Given the description of an element on the screen output the (x, y) to click on. 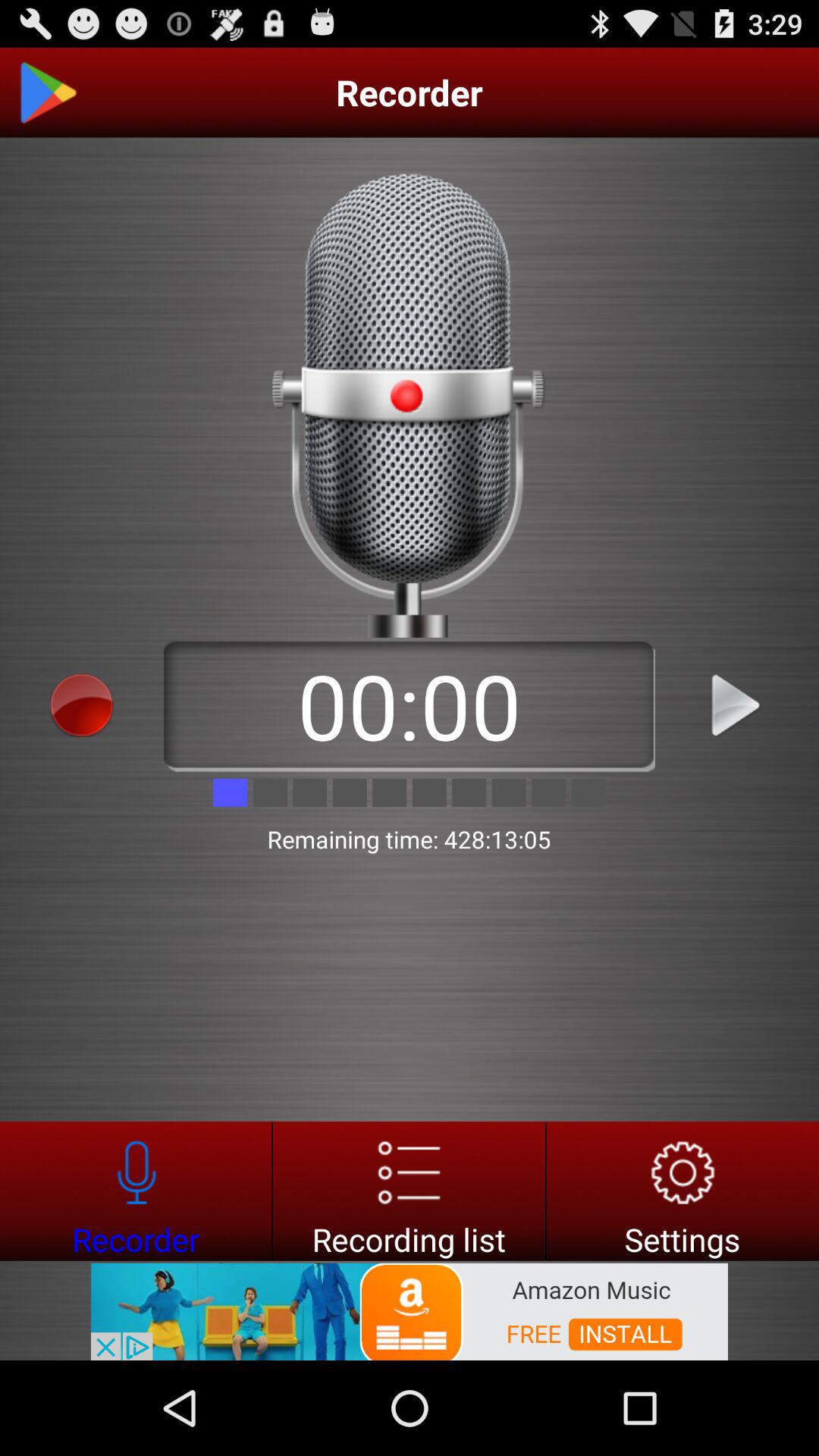
recorder (135, 1190)
